Given the description of an element on the screen output the (x, y) to click on. 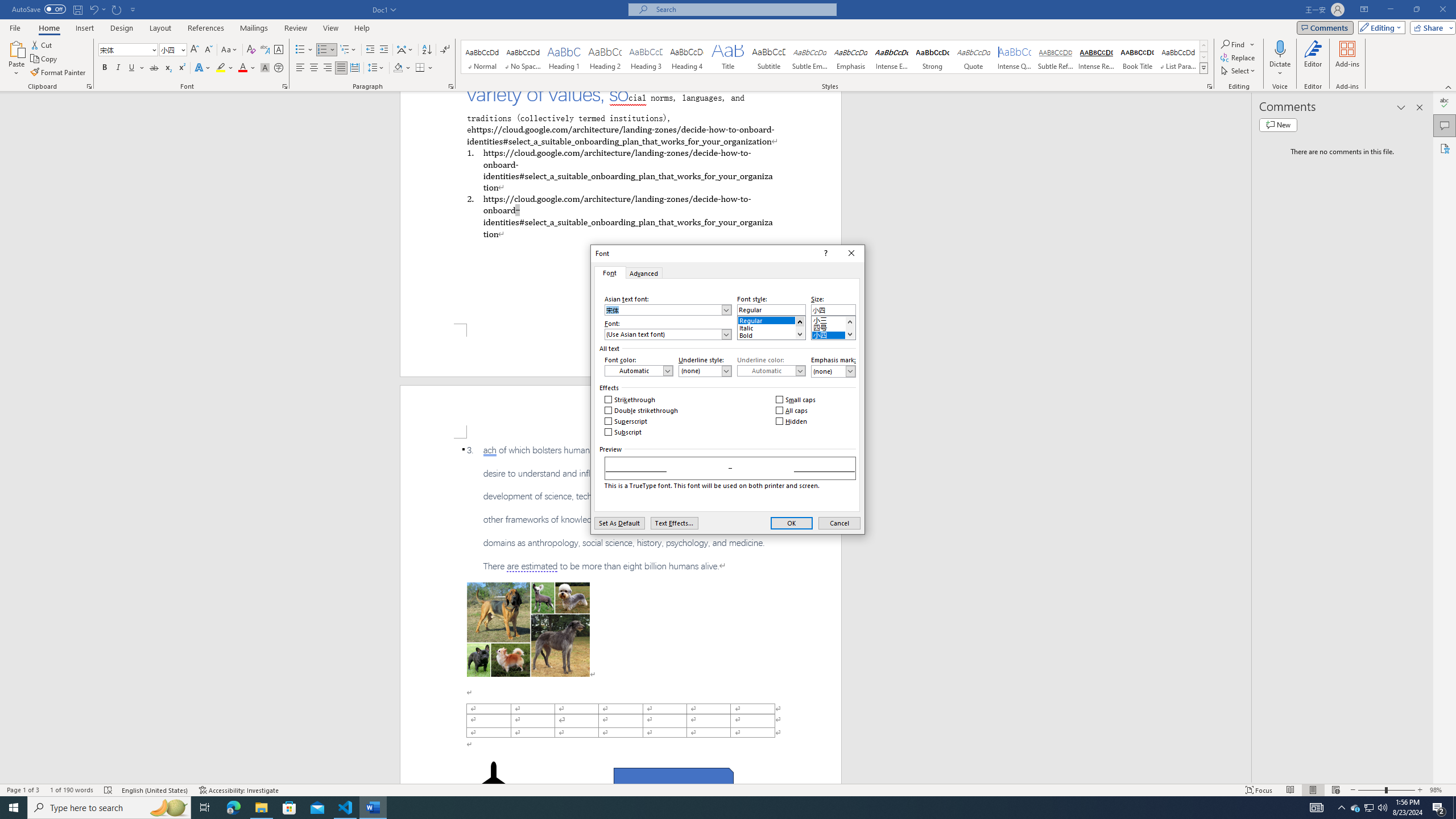
Accessibility Checker Accessibility: Investigate (239, 790)
Intense Quote (1014, 56)
Search highlights icon opens search home window (167, 807)
All caps (792, 410)
Strikethrough (154, 67)
Subtle Reference (1055, 56)
Line up (849, 321)
Heading 4 (686, 56)
